Given the description of an element on the screen output the (x, y) to click on. 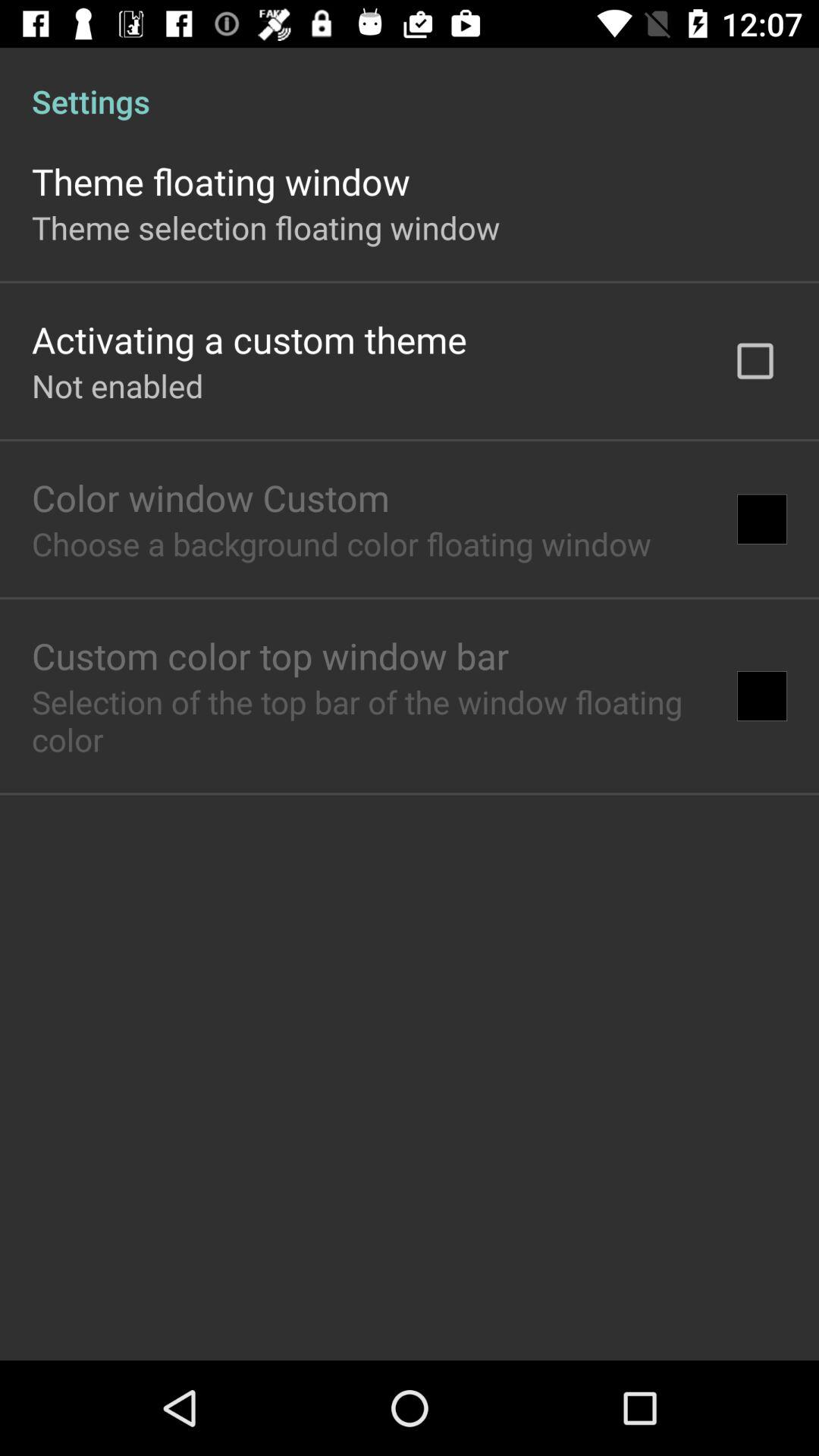
swipe until the choose a background app (341, 543)
